Given the description of an element on the screen output the (x, y) to click on. 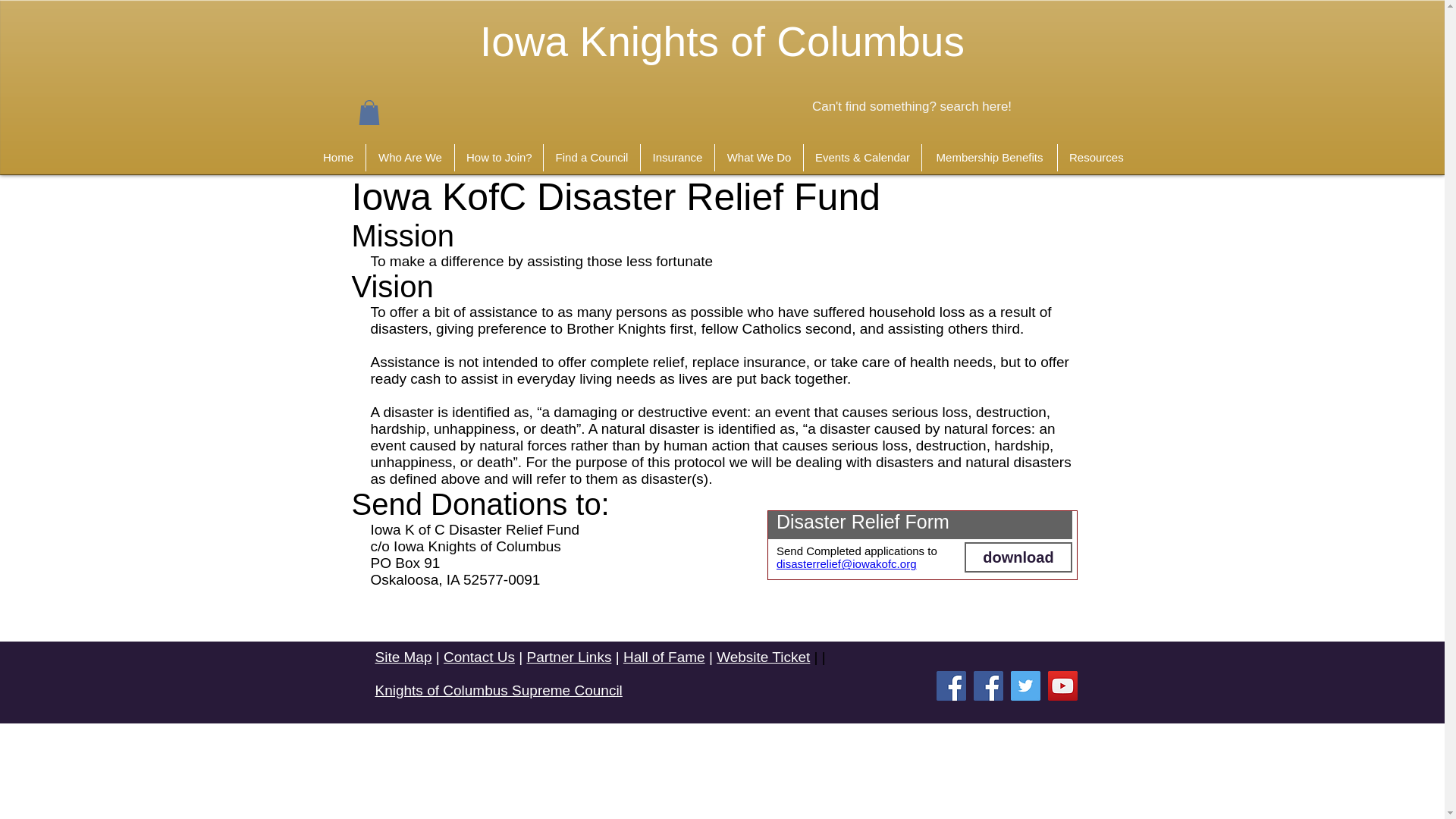
Who Are We (410, 157)
How to Join? (498, 157)
Insurance (677, 157)
Iowa Knights of Columbus (721, 41)
Home (338, 157)
What We Do (758, 157)
Resources (1096, 157)
Membership Benefits (989, 157)
Find a Council (591, 157)
